Given the description of an element on the screen output the (x, y) to click on. 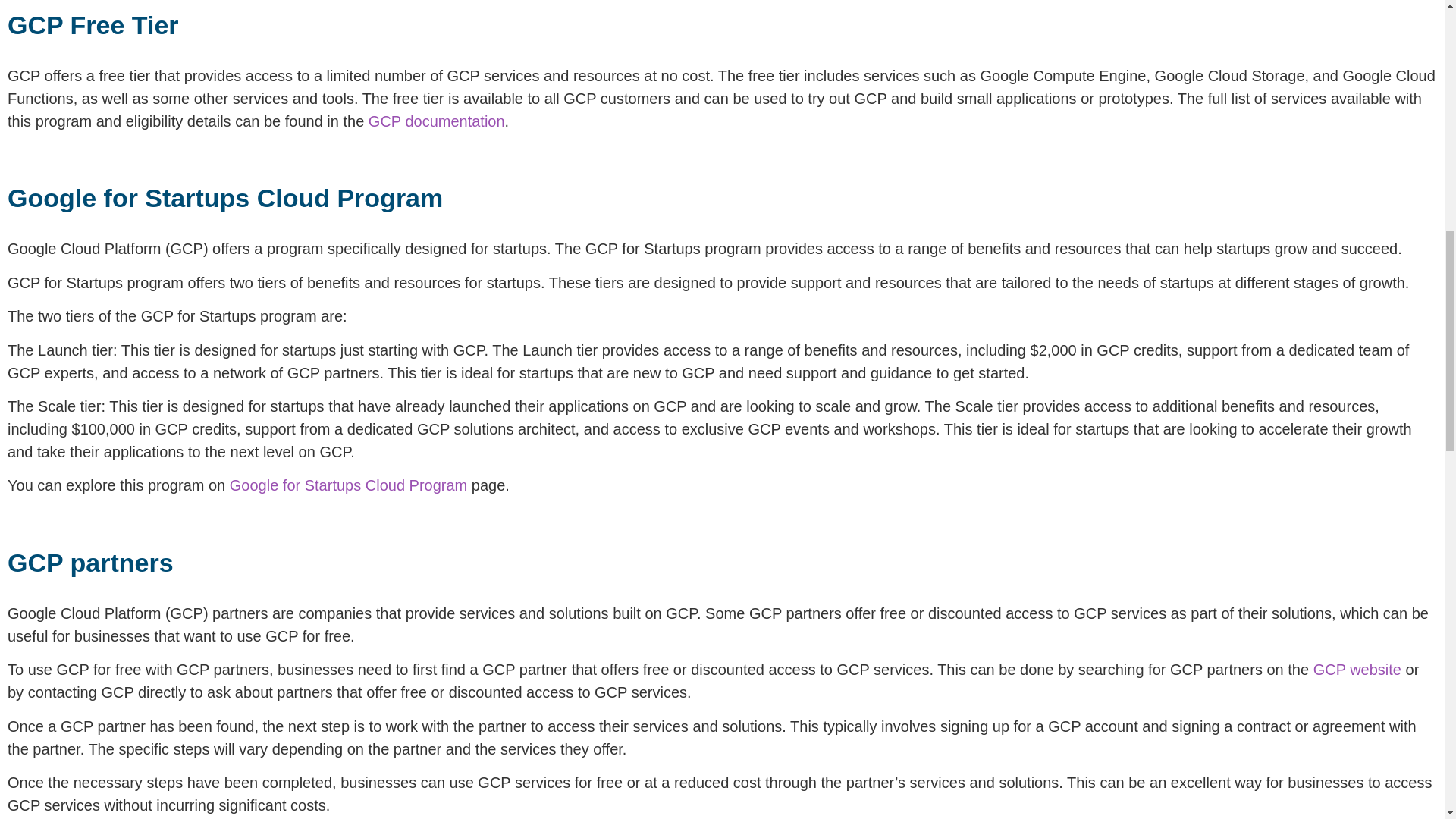
GCP website (1356, 669)
Google for Startups Cloud Program (348, 484)
GCP documentation (436, 121)
